Given the description of an element on the screen output the (x, y) to click on. 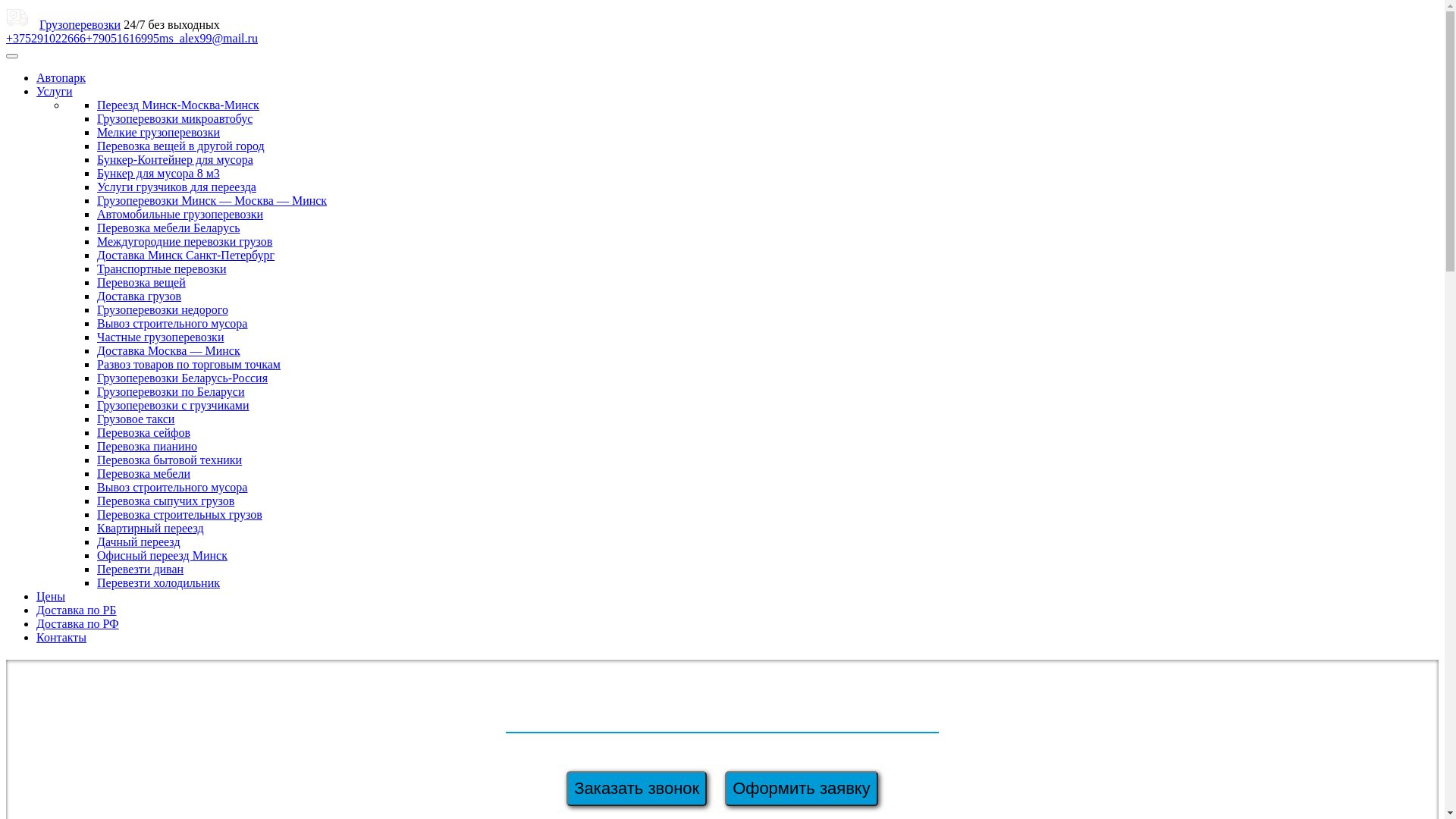
+79051616995 Element type: text (122, 37)
ms_alex99@mail.ru Element type: text (208, 37)
+375291022666 Element type: text (45, 37)
